Given the description of an element on the screen output the (x, y) to click on. 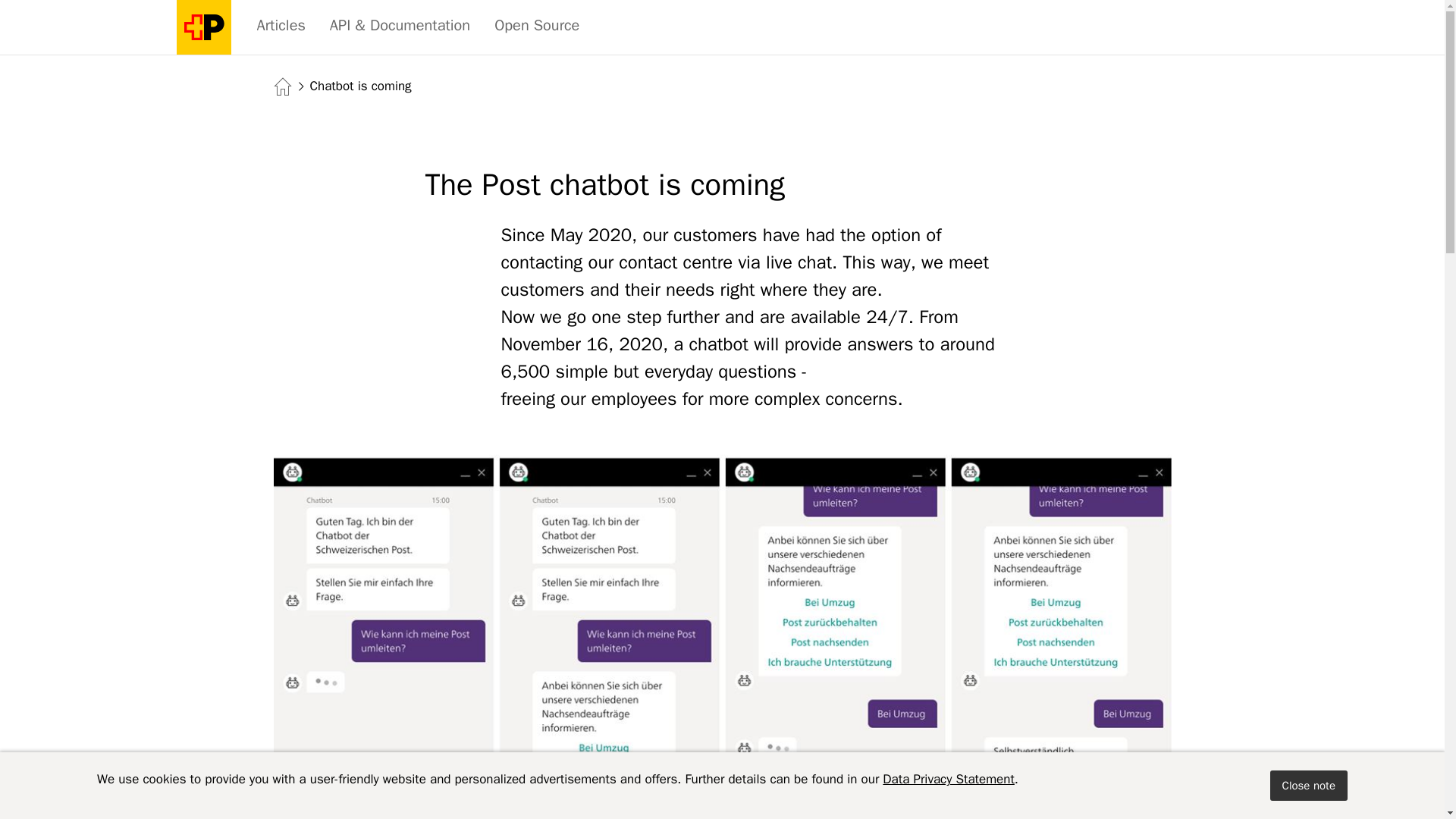
Swiss Post (203, 27)
Close note (1308, 785)
Open Source (536, 25)
Data Privacy Statement (948, 779)
Swisspost (203, 27)
Articles (280, 25)
